Given the description of an element on the screen output the (x, y) to click on. 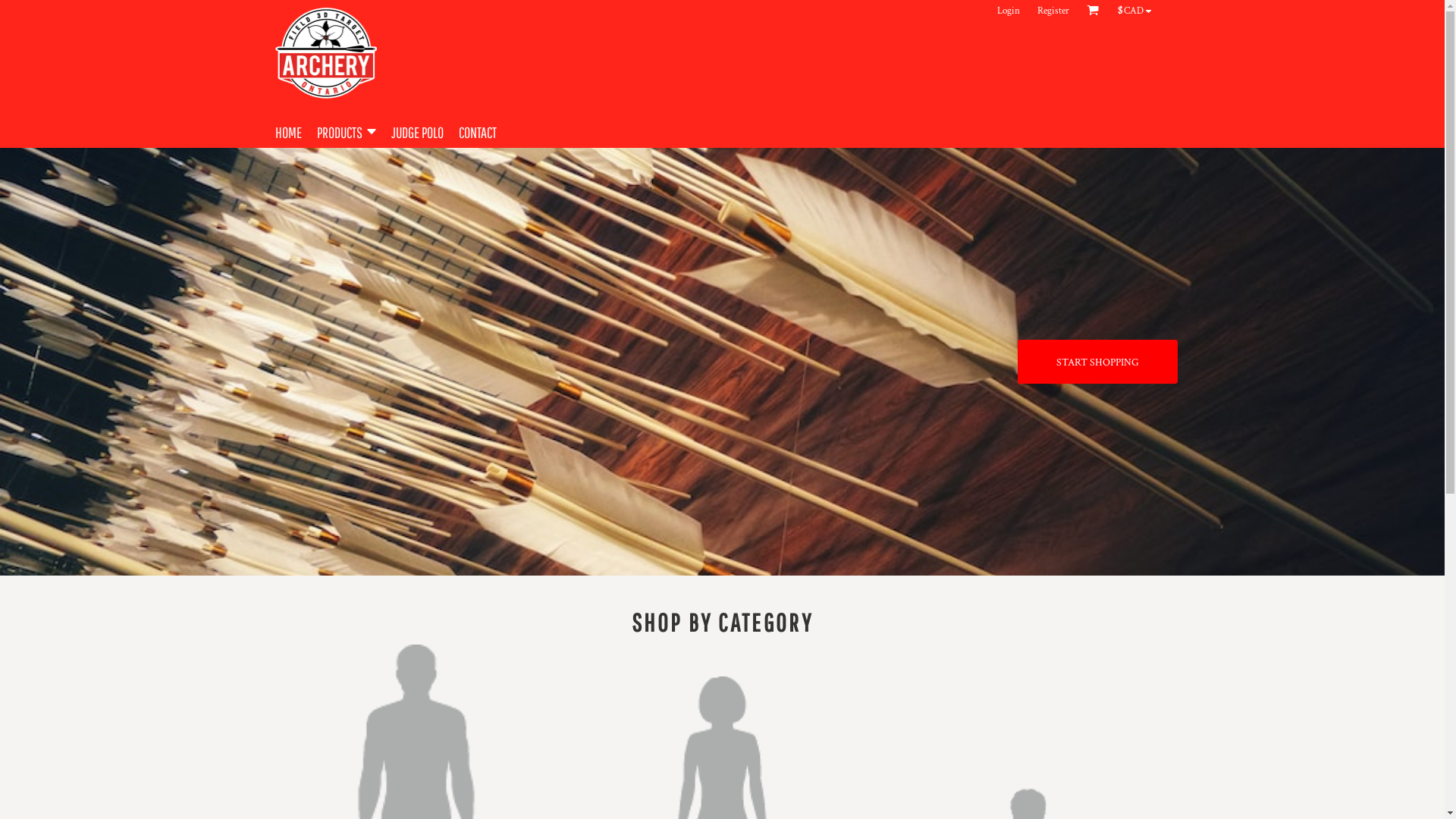
START SHOPPING Element type: text (1097, 361)
PRODUCTS Element type: text (346, 130)
Register Element type: text (1053, 10)
Login Element type: text (1008, 10)
CONTACT Element type: text (476, 130)
JUDGE POLO Element type: text (417, 130)
HOME Element type: text (287, 130)
